Given the description of an element on the screen output the (x, y) to click on. 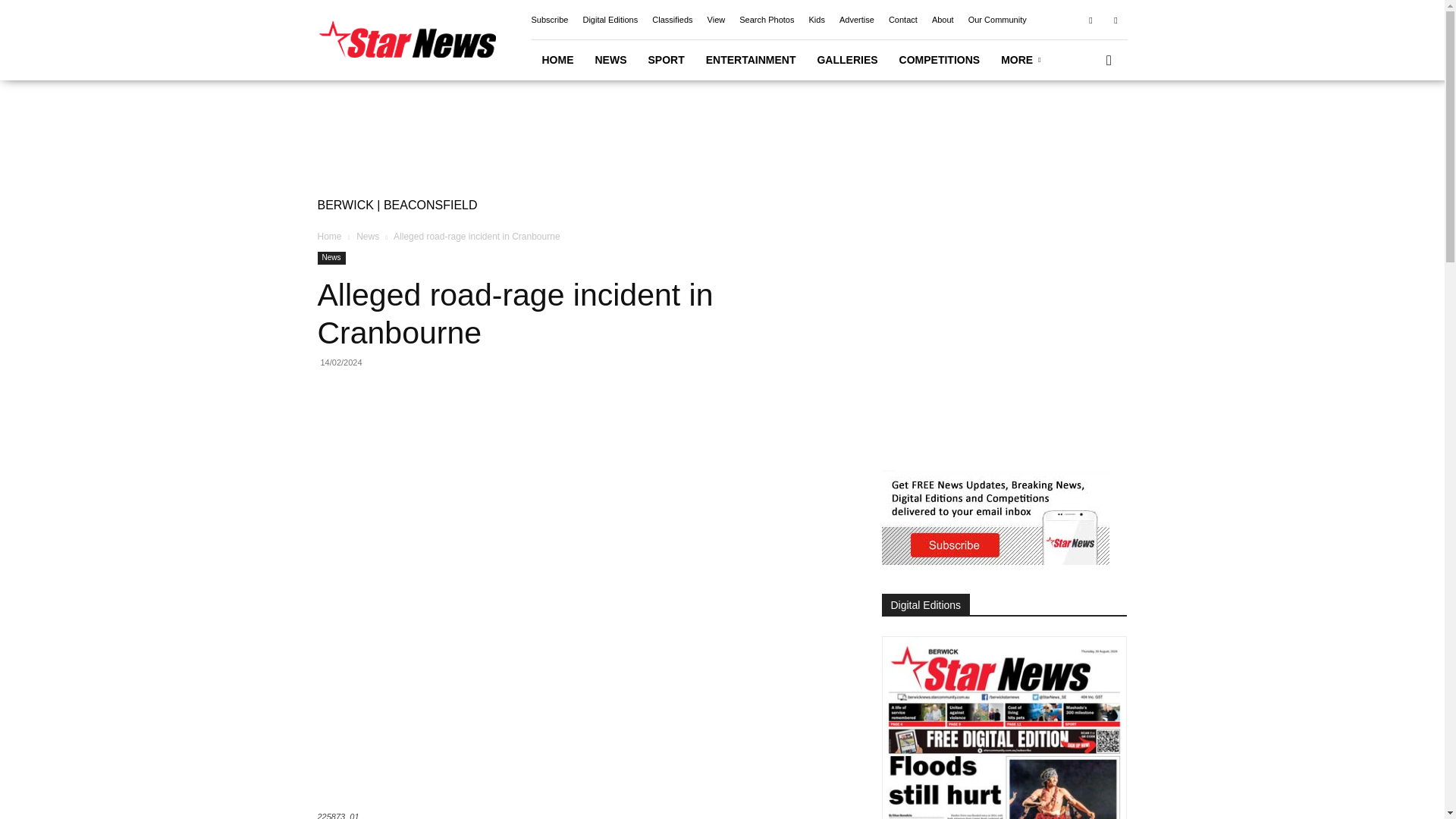
Classifieds (672, 19)
Twitter (1114, 19)
Facebook (1090, 19)
Advertise (857, 19)
About (942, 19)
Search Photos (766, 19)
Subscribe (549, 19)
Our Community (997, 19)
View all posts in News (367, 235)
Digital Editions (609, 19)
